Given the description of an element on the screen output the (x, y) to click on. 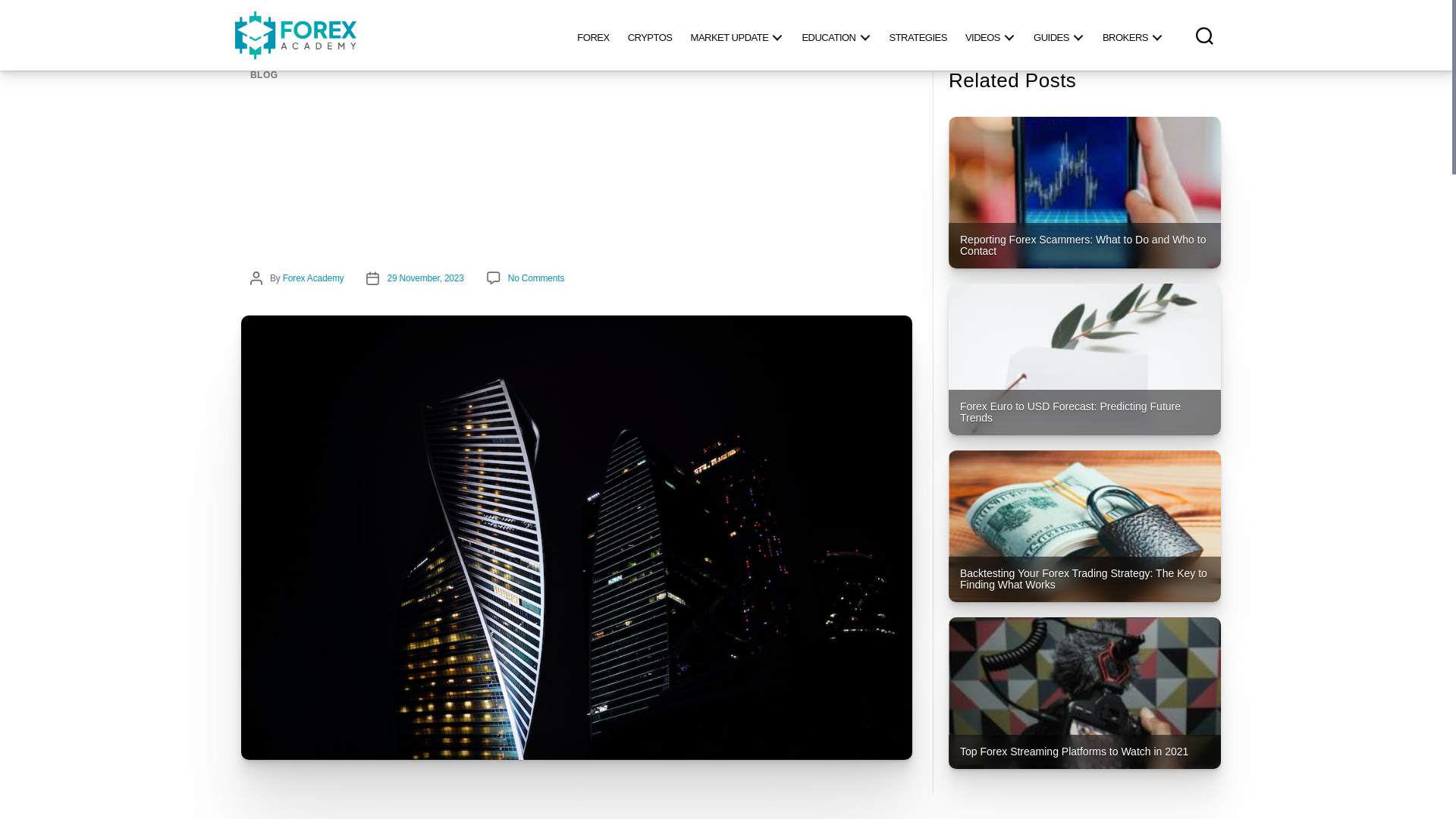
CRYPTOS (649, 35)
Forex Euro to USD Forecast: Predicting Future Trends (1085, 358)
STRATEGIES (917, 35)
MARKET UPDATE (737, 35)
Reporting Forex Scammers: What to Do and Who to Contact (1085, 192)
BROKERS (1132, 35)
VIDEOS (990, 35)
Top Forex Streaming Platforms to Watch in 2021 (1085, 693)
GUIDES (1059, 35)
EDUCATION (835, 35)
